Given the description of an element on the screen output the (x, y) to click on. 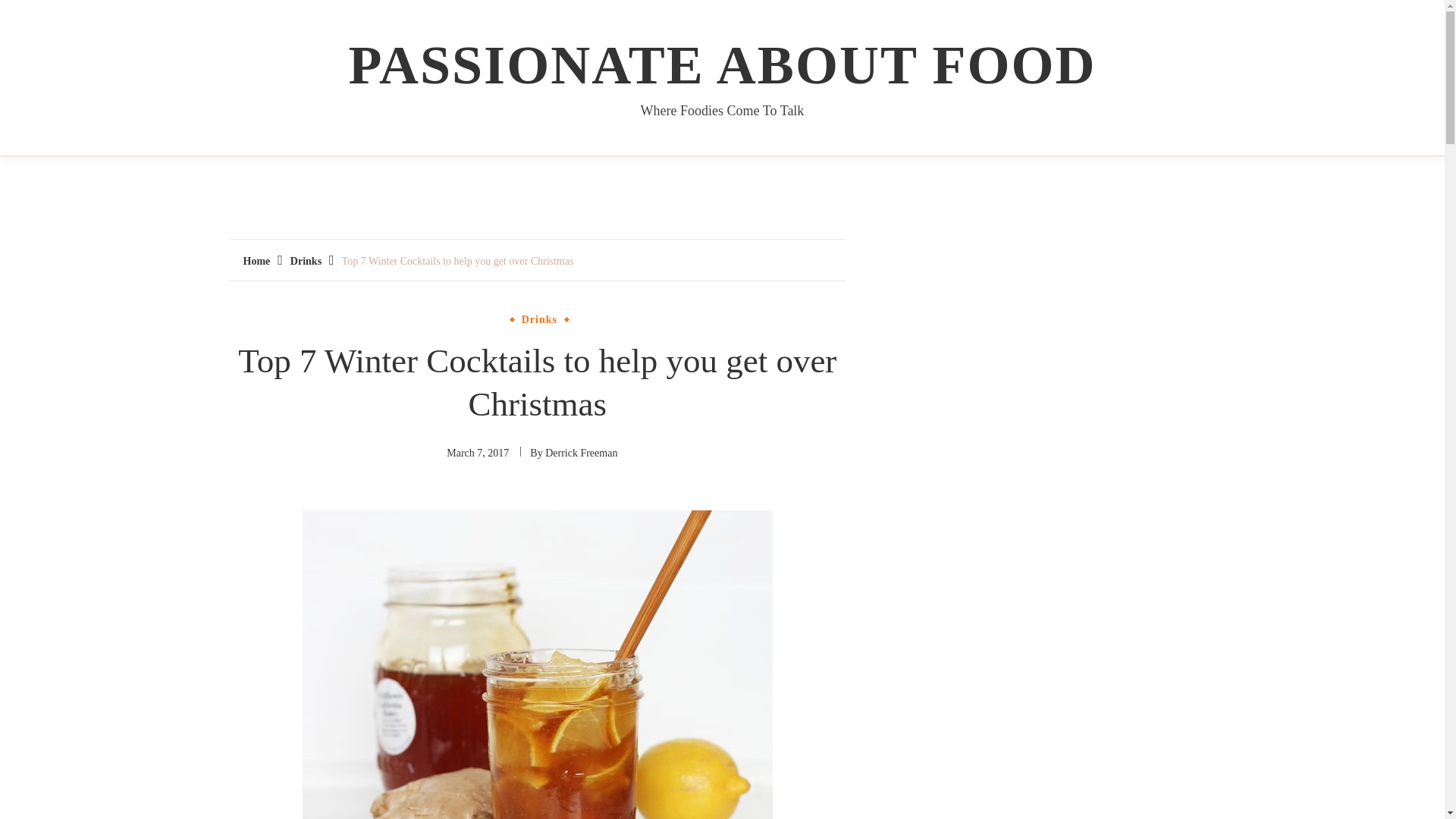
March 7, 2017 (477, 452)
Home (256, 260)
Top 7 Winter Cocktails to help you get over Christmas (457, 260)
Derrick Freeman (580, 452)
PASSIONATE ABOUT FOOD (721, 65)
Drinks (305, 260)
Drinks (539, 319)
